Given the description of an element on the screen output the (x, y) to click on. 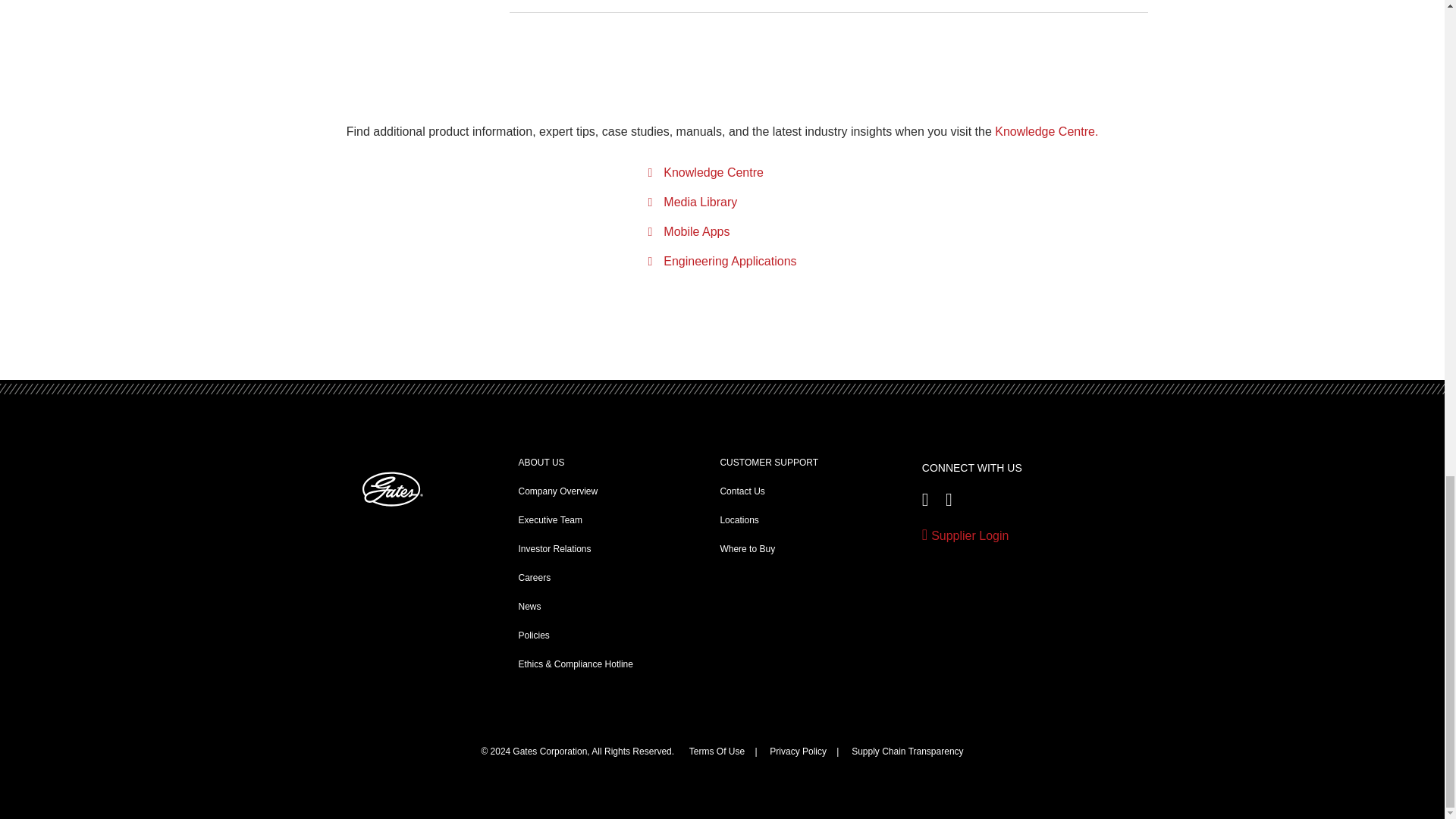
Company Overview (558, 491)
Investor Relations (554, 548)
Privacy Policy (798, 751)
Executive Team (551, 520)
Policies (534, 634)
Careers (535, 577)
Supplier Login (1026, 536)
Where to Buy (746, 548)
Supply Chain Transparency (906, 751)
Locations (738, 520)
Terms Of Use (716, 751)
Contact Us (741, 491)
